Given the description of an element on the screen output the (x, y) to click on. 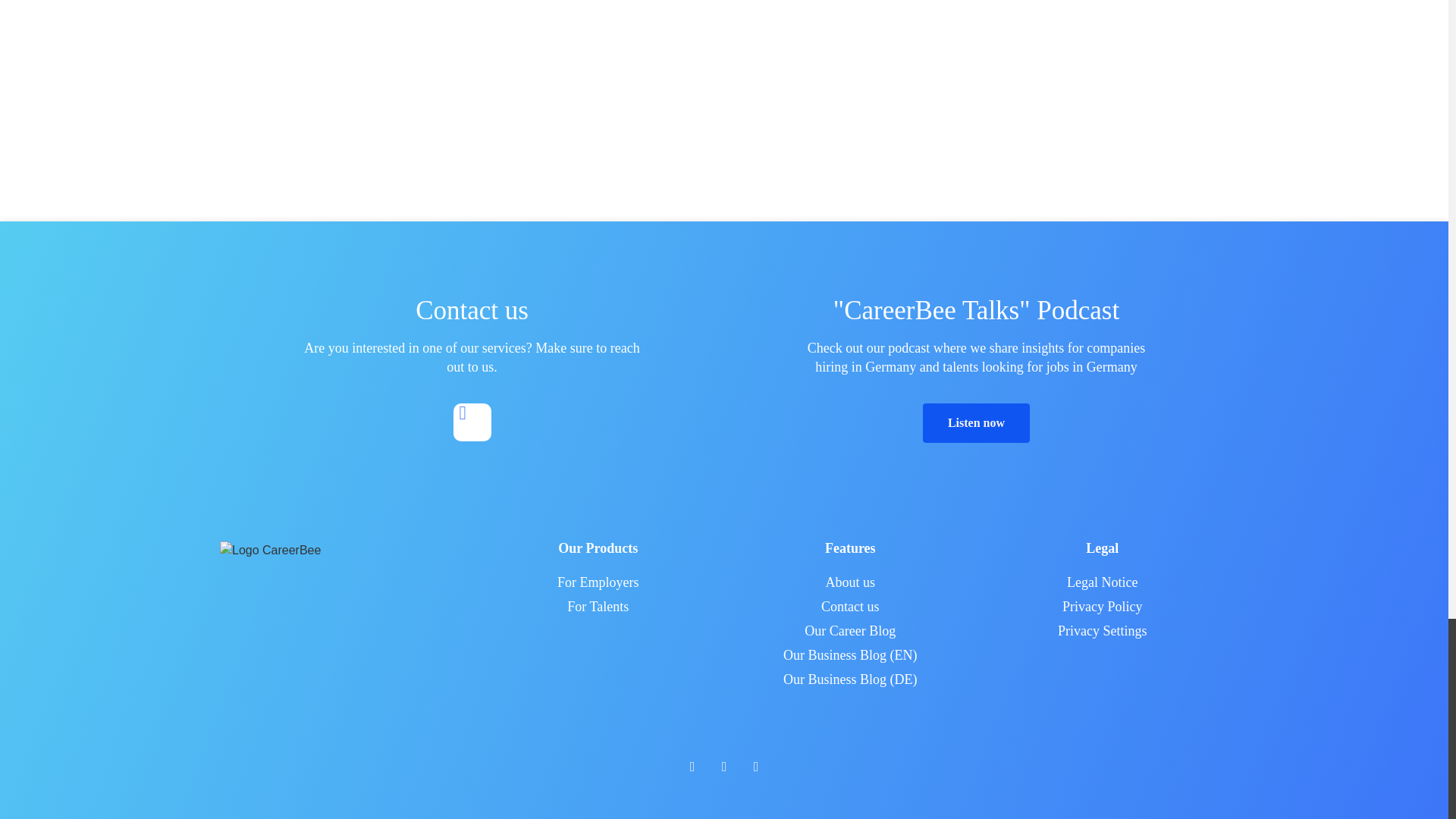
For Talents (597, 606)
Contact us (849, 606)
Listen now (976, 423)
For Employers (597, 582)
Our Career Blog (849, 630)
About us (849, 582)
